Given the description of an element on the screen output the (x, y) to click on. 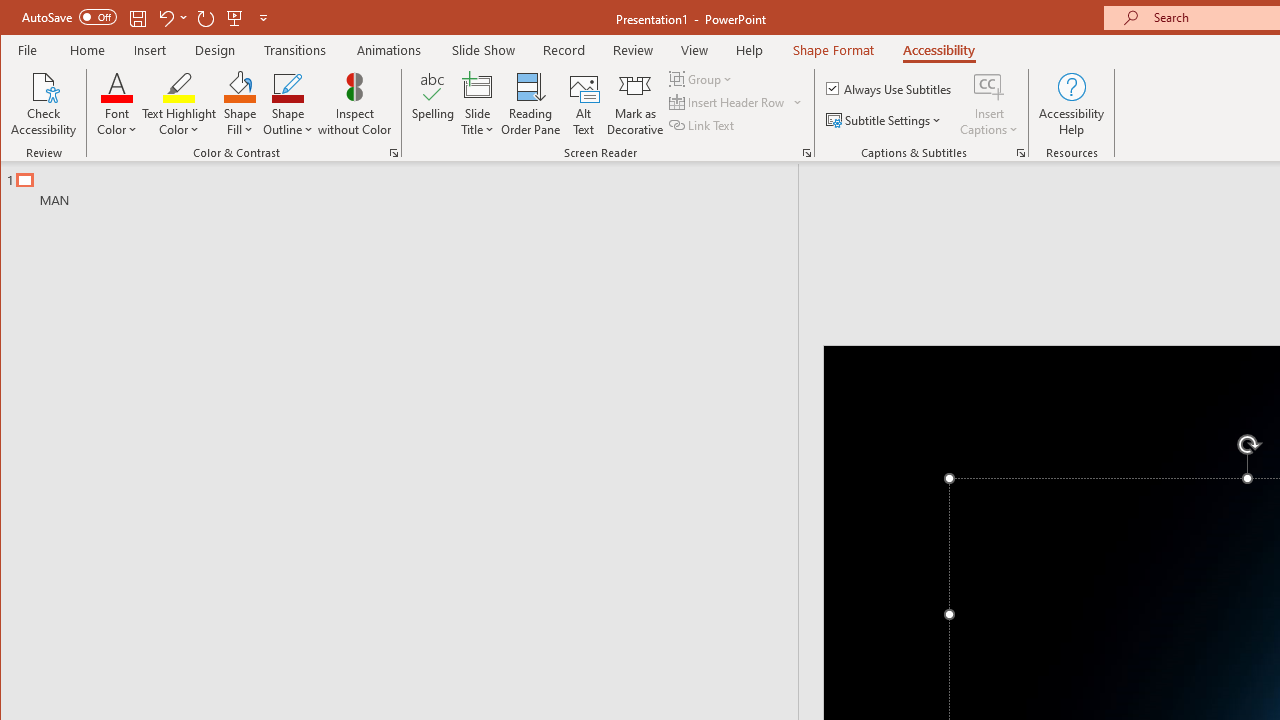
Captions & Subtitles (1020, 152)
Link Text (703, 124)
Insert Header Row (735, 101)
Slide Title (477, 86)
Insert Captions (989, 86)
Mark as Decorative (635, 104)
